Given the description of an element on the screen output the (x, y) to click on. 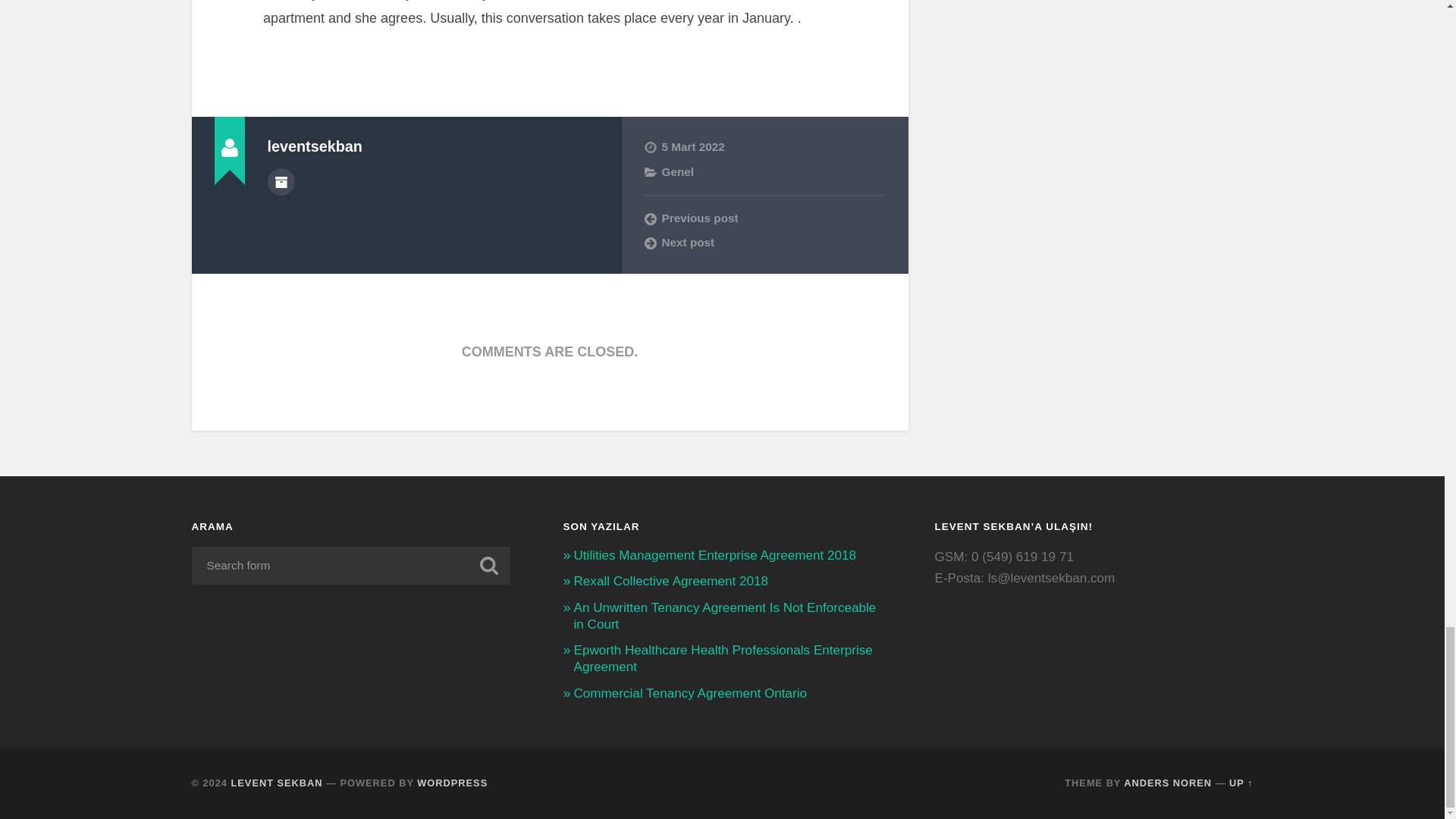
Author archive (280, 181)
Rexall Collective Agreement 2018 (670, 581)
Previous post (765, 218)
Commercial Tenancy Agreement Ontario (689, 693)
Search (488, 565)
Epworth Healthcare Health Professionals Enterprise Agreement (722, 658)
Utilities Management Enterprise Agreement 2018 (714, 554)
An Unwritten Tenancy Agreement Is Not Enforceable in Court (724, 615)
LEVENT SEKBAN (277, 782)
Next post (765, 242)
WORDPRESS (451, 782)
ANDERS NOREN (1167, 782)
Search (488, 565)
Search (488, 565)
